Given the description of an element on the screen output the (x, y) to click on. 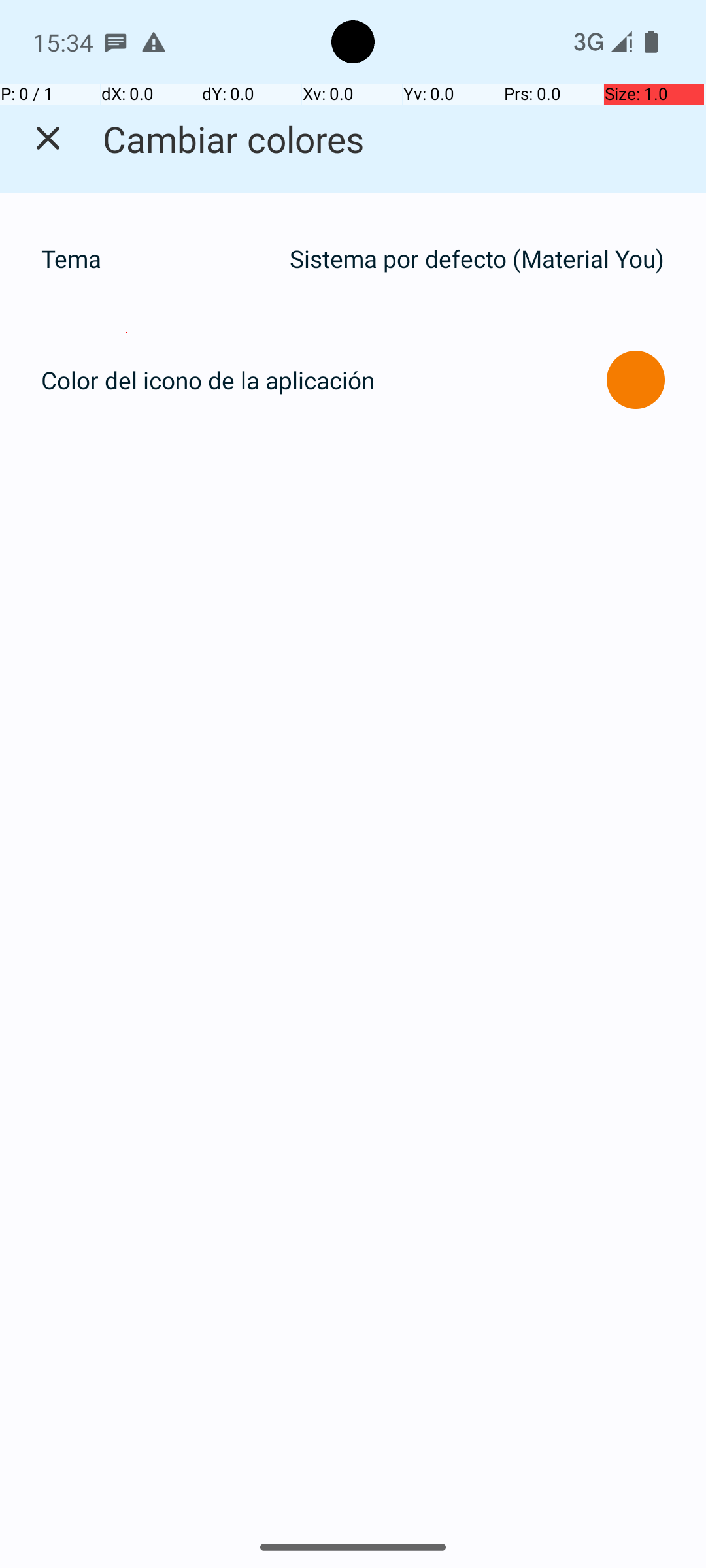
Tema Element type: android.widget.TextView (158, 258)
Sistema por defecto (Material You) Element type: android.widget.TextView (476, 258)
Color del icono de la aplicación Element type: android.widget.TextView (207, 379)
